Given the description of an element on the screen output the (x, y) to click on. 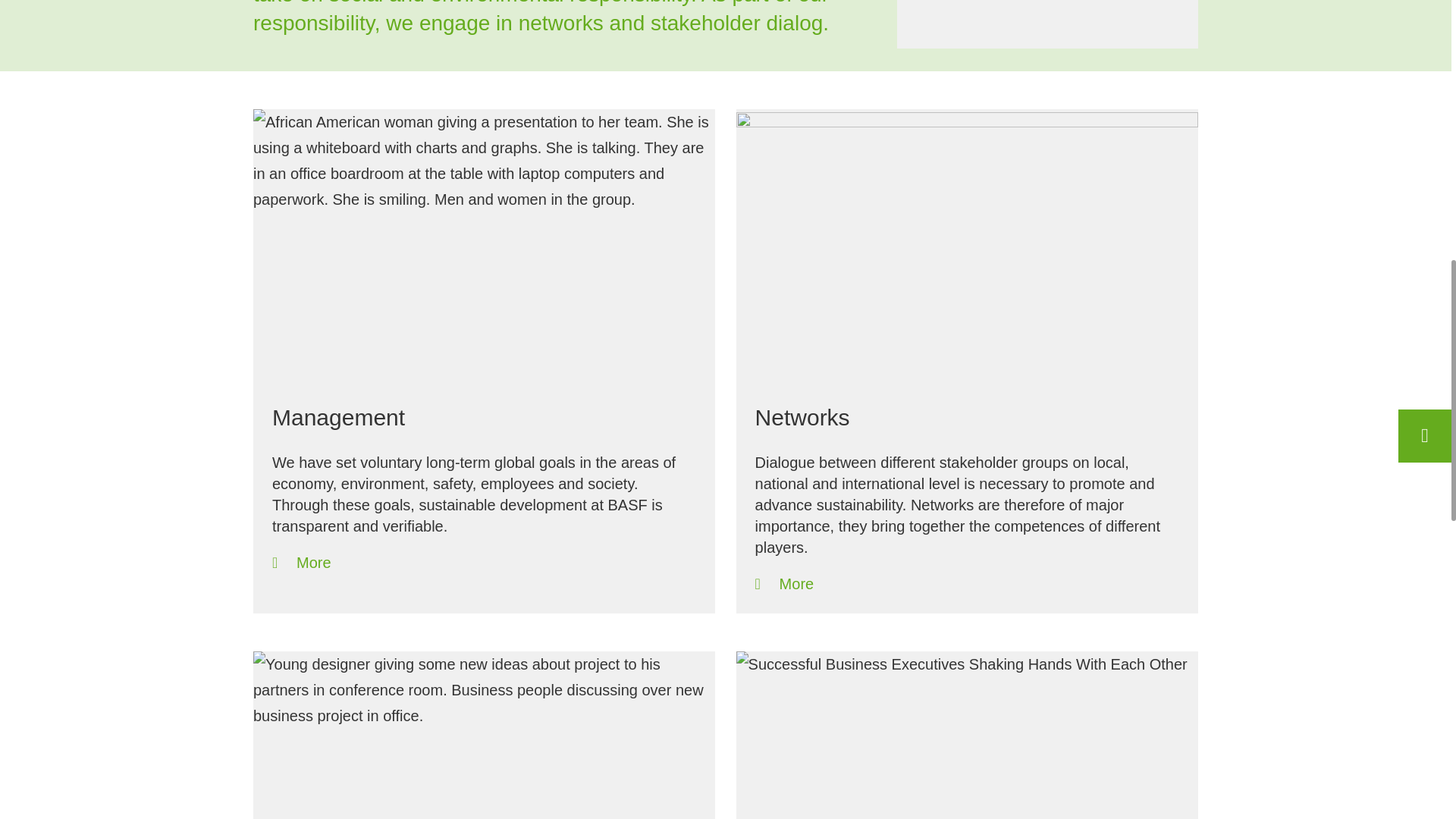
More (301, 562)
More (784, 583)
More (301, 562)
Successful Business Executives Shaking Hands With Each Other (967, 735)
More (784, 583)
